Given the description of an element on the screen output the (x, y) to click on. 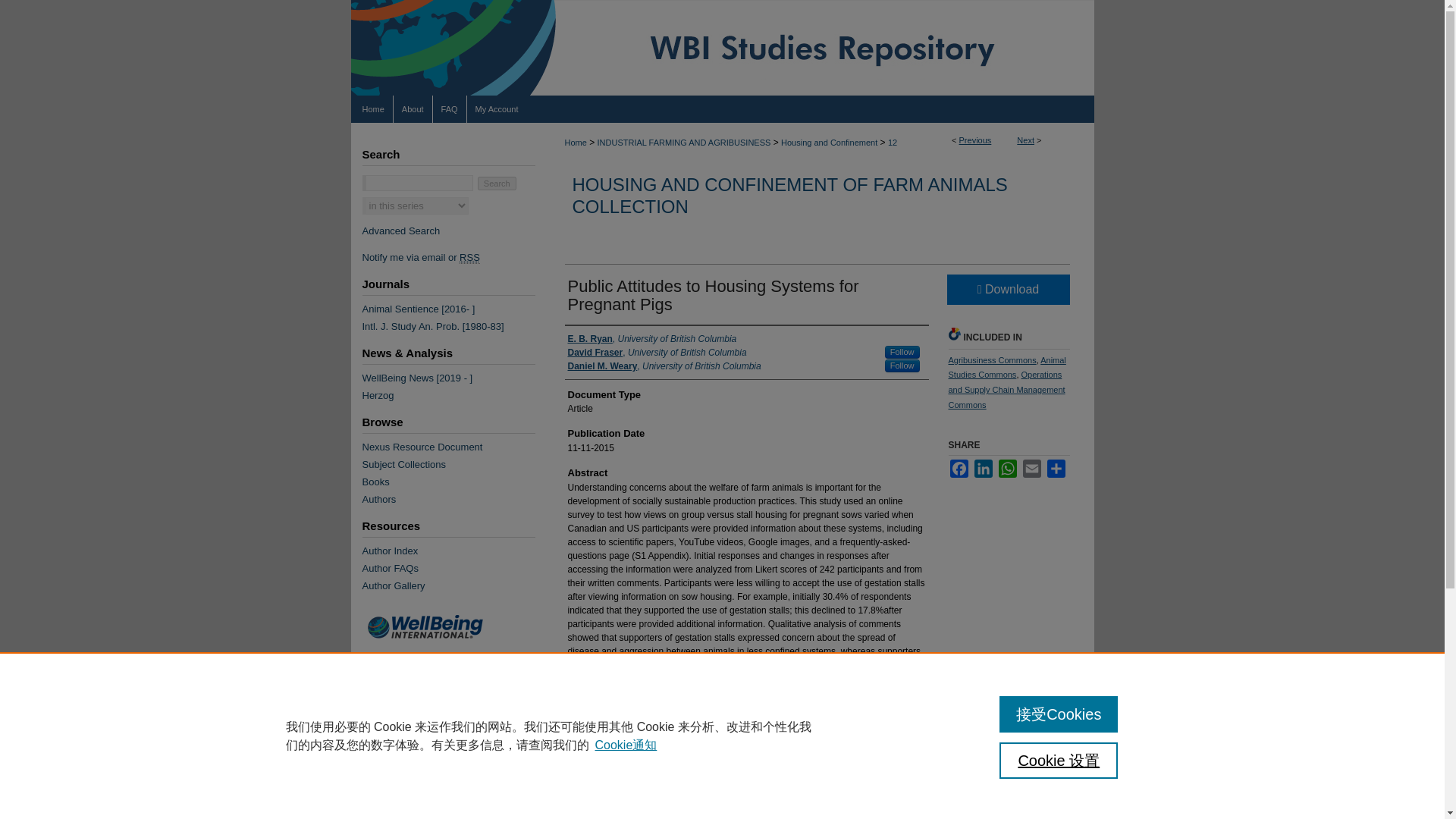
WhatsApp (1006, 468)
FAQ (449, 108)
Animal Studies Commons (1006, 367)
Next (1024, 139)
Download (1007, 289)
Follow (902, 365)
Home (371, 108)
Notify me via email or RSS (447, 256)
Email (1031, 468)
Follow David Fraser (902, 351)
Search (496, 183)
Email or RSS Notifications (447, 256)
Agribusiness Commons (991, 359)
HOUSING AND CONFINEMENT OF FARM ANIMALS COLLECTION (789, 195)
My Account (497, 108)
